Given the description of an element on the screen output the (x, y) to click on. 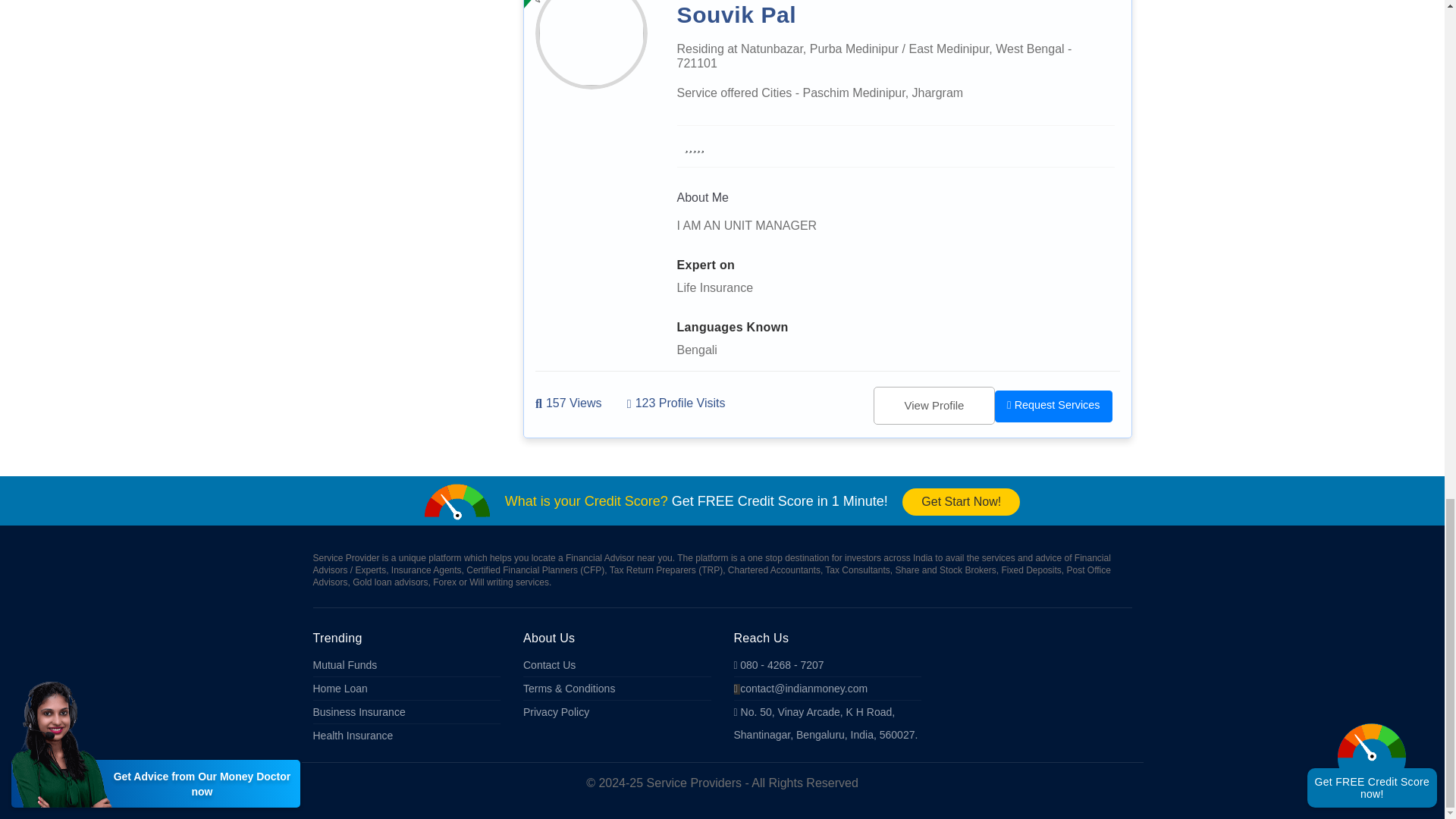
Rate this Service Provider by visiting this profile (695, 146)
